Given the description of an element on the screen output the (x, y) to click on. 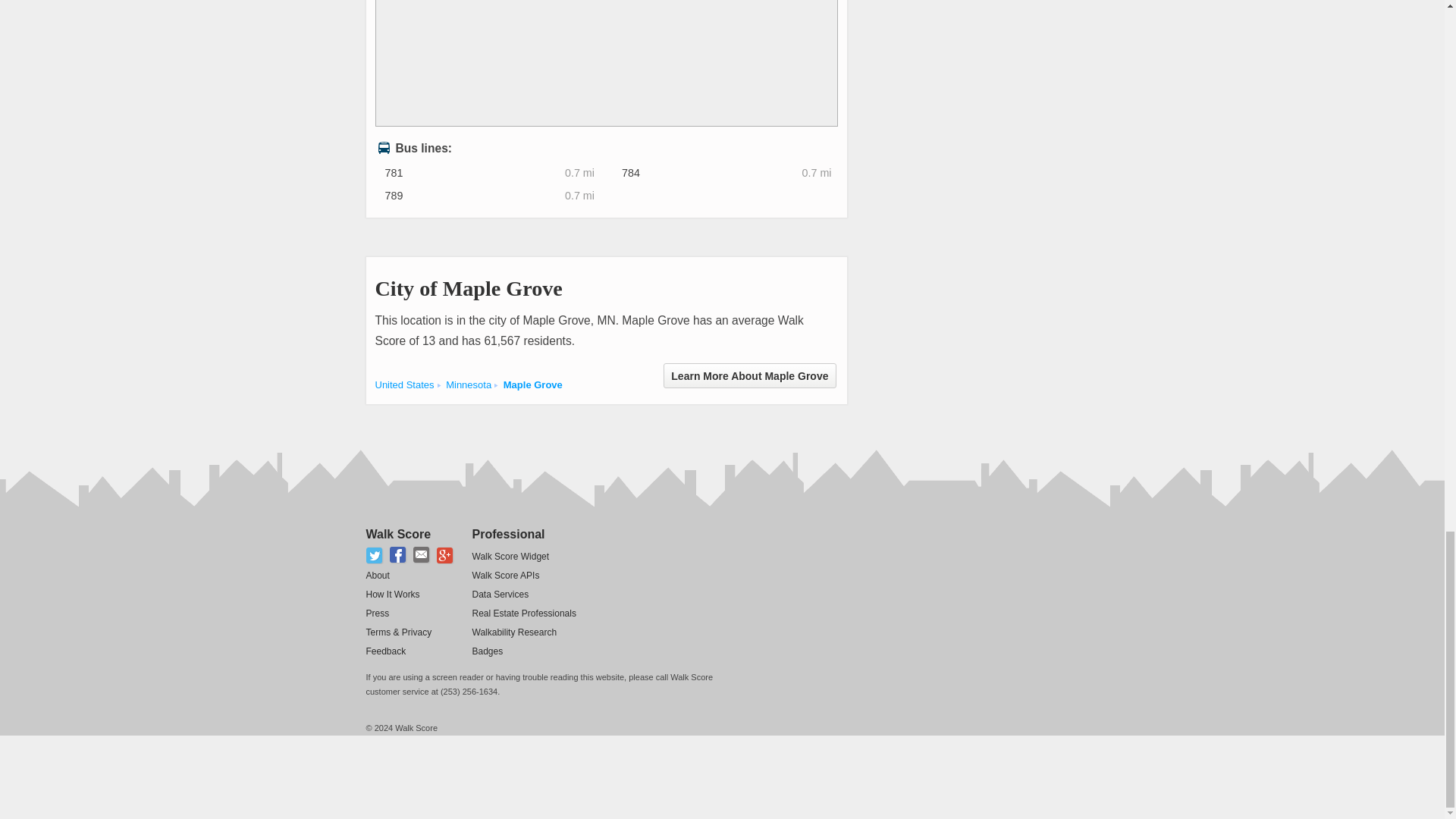
United States Walkability Rankings (403, 384)
Learn More About Maple Grove (749, 375)
Walk Score (397, 533)
Minnesota (468, 384)
Cities in Minnesota state (468, 384)
United States (403, 384)
Maple Grove (532, 384)
